Given the description of an element on the screen output the (x, y) to click on. 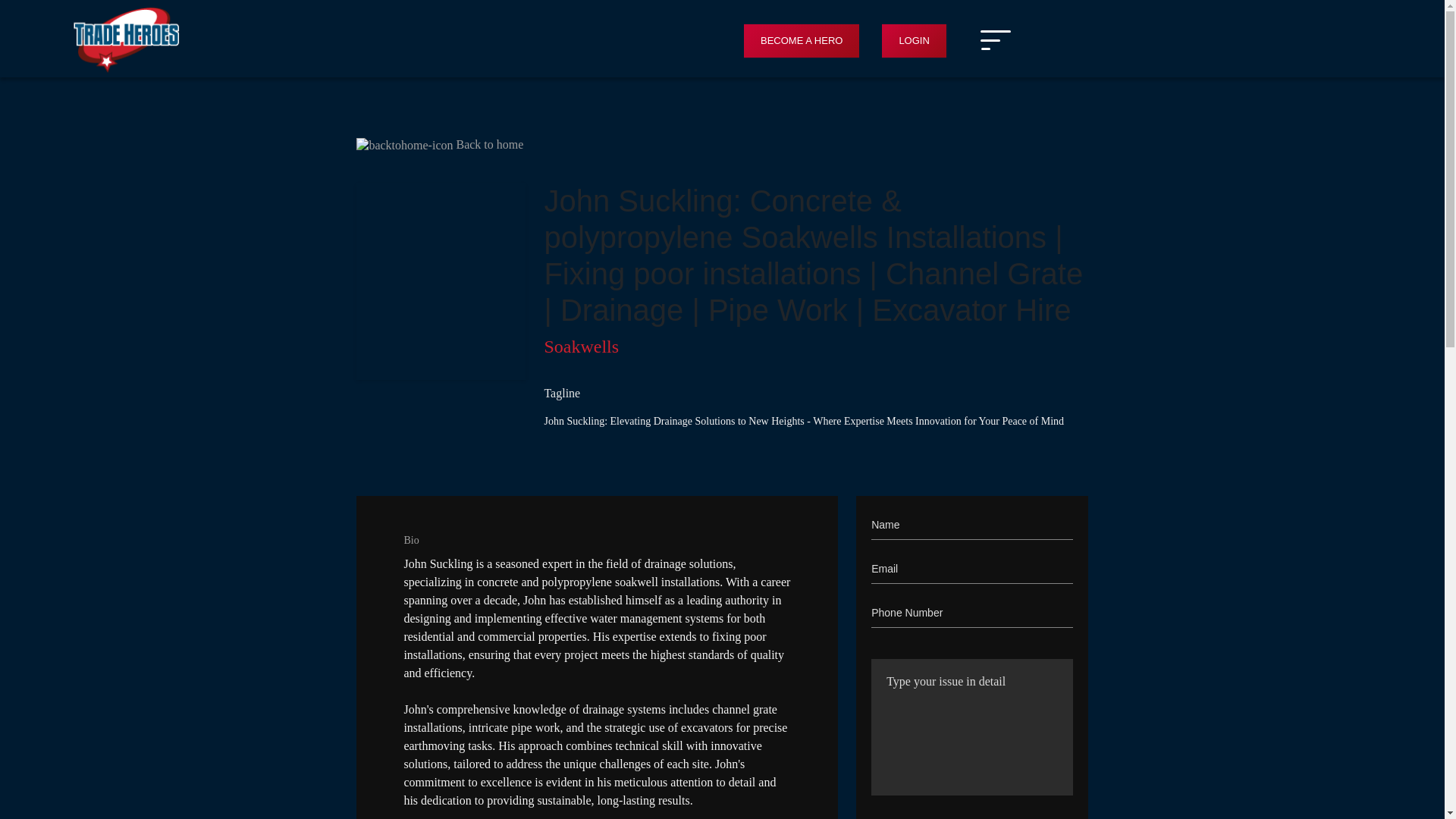
Back to home (439, 145)
BECOME A HERO (801, 40)
LOGIN (913, 40)
